Given the description of an element on the screen output the (x, y) to click on. 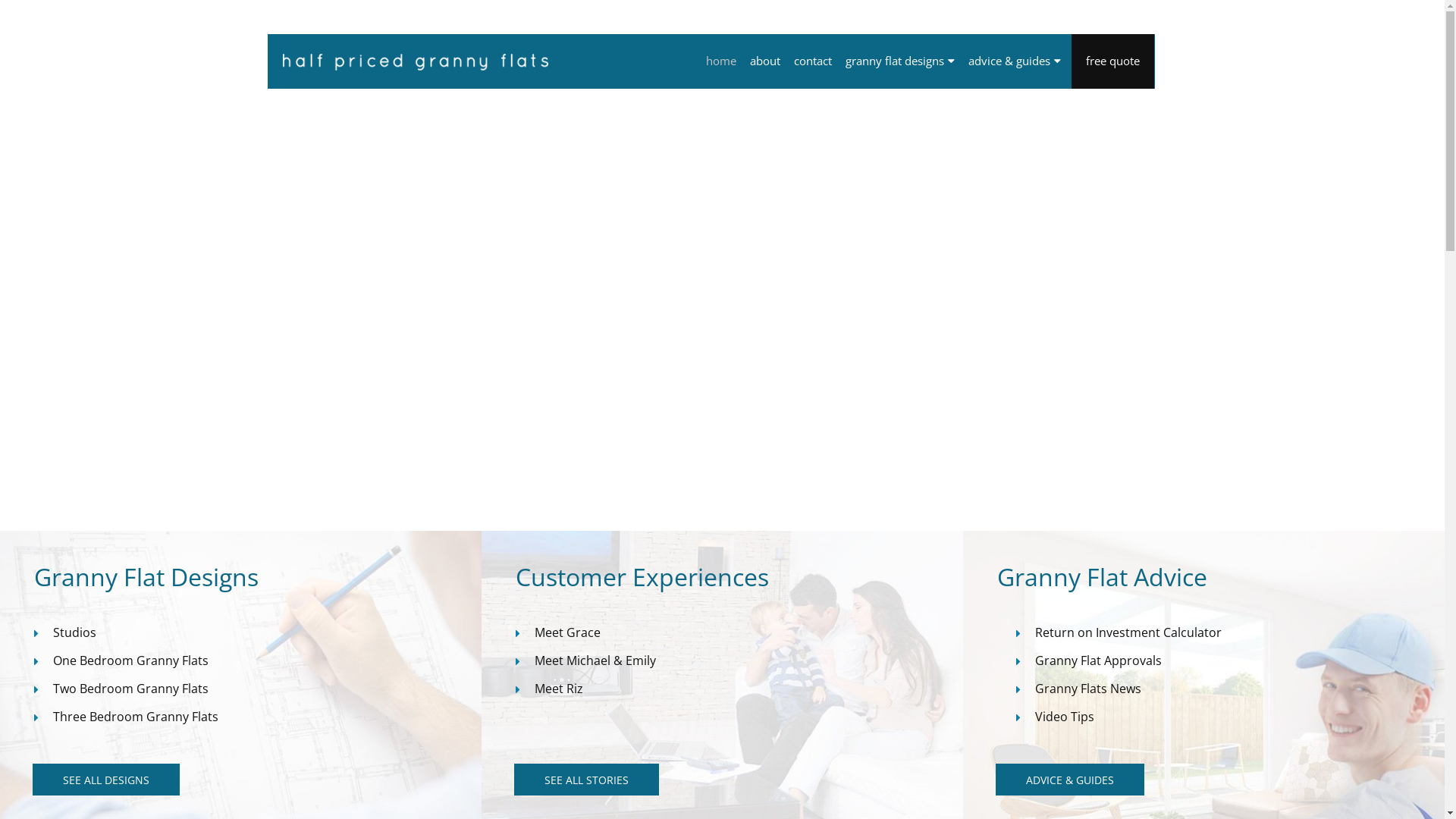
home Element type: text (721, 61)
One Bedroom Granny Flats Element type: text (130, 660)
Granny Flat Approvals Element type: text (1098, 660)
advice & guides Element type: text (1014, 61)
Two Bedroom Granny Flats Element type: text (130, 688)
ADVICE & GUIDES Element type: text (1069, 779)
Studios Element type: text (74, 632)
Granny Flat Designs Element type: text (257, 577)
SEE ALL STORIES Element type: text (586, 779)
Video Tips Element type: text (1064, 716)
Granny Flats News Element type: text (1088, 688)
SEE ALL DESIGNS Element type: text (105, 779)
about Element type: text (765, 61)
Granny Flat Advice Element type: text (1220, 577)
Meet Grace Element type: text (567, 632)
Meet Michael & Emily Element type: text (594, 660)
Return on Investment Calculator Element type: text (1128, 632)
contact Element type: text (812, 61)
Customer Experiences Element type: text (739, 577)
Three Bedroom Granny Flats Element type: text (135, 716)
free quote Element type: text (1112, 61)
granny flat designs Element type: text (899, 61)
Meet Riz Element type: text (558, 688)
